Given the description of an element on the screen output the (x, y) to click on. 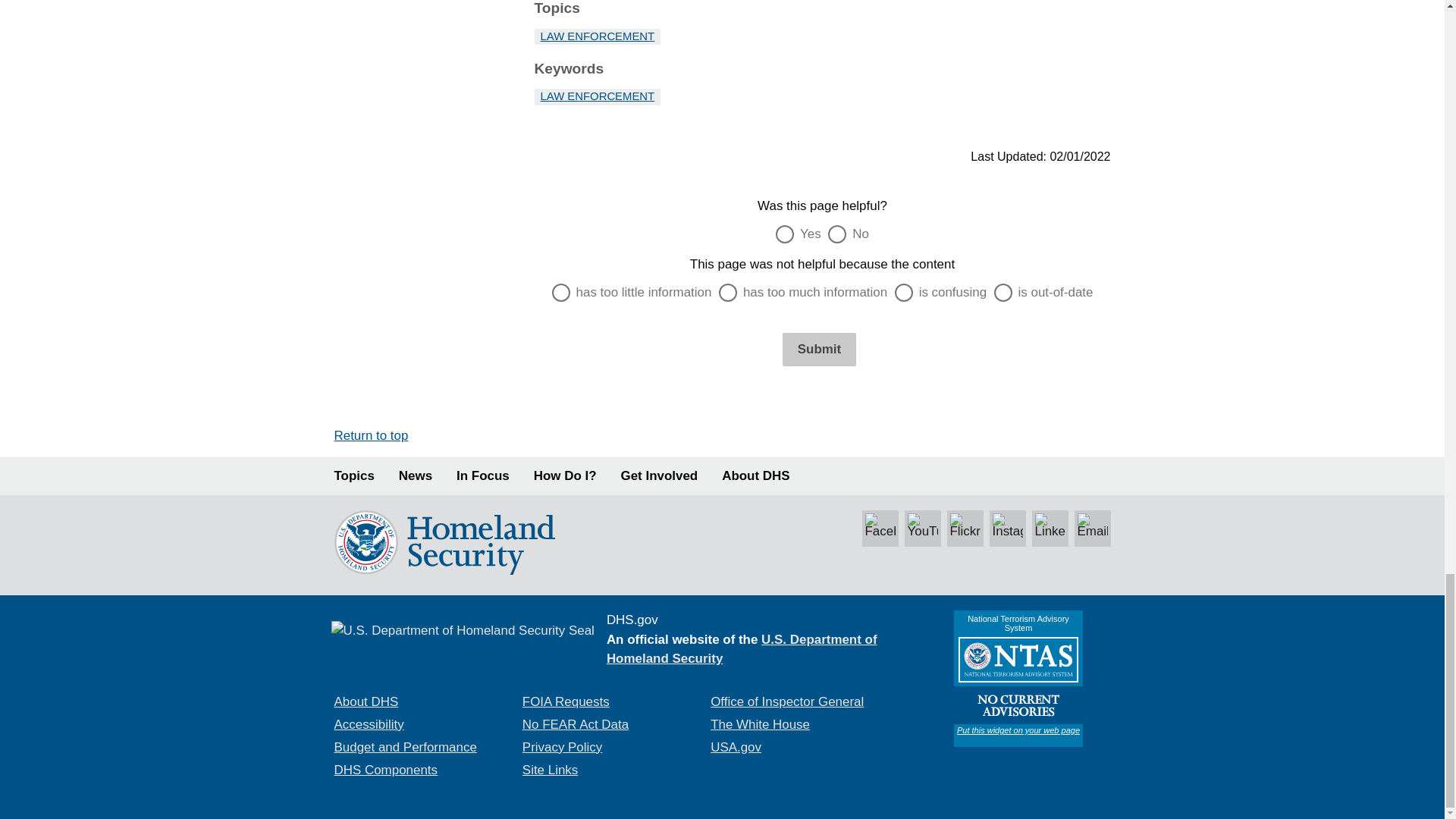
National Terrorism Advisory System (1018, 678)
Submit (819, 349)
How Do I? (565, 476)
DHS Components (385, 769)
Submit (819, 349)
Office of the Inspector General (786, 701)
Topics (353, 476)
Get Involved (659, 476)
Submit (819, 349)
In Focus (483, 476)
